Given the description of an element on the screen output the (x, y) to click on. 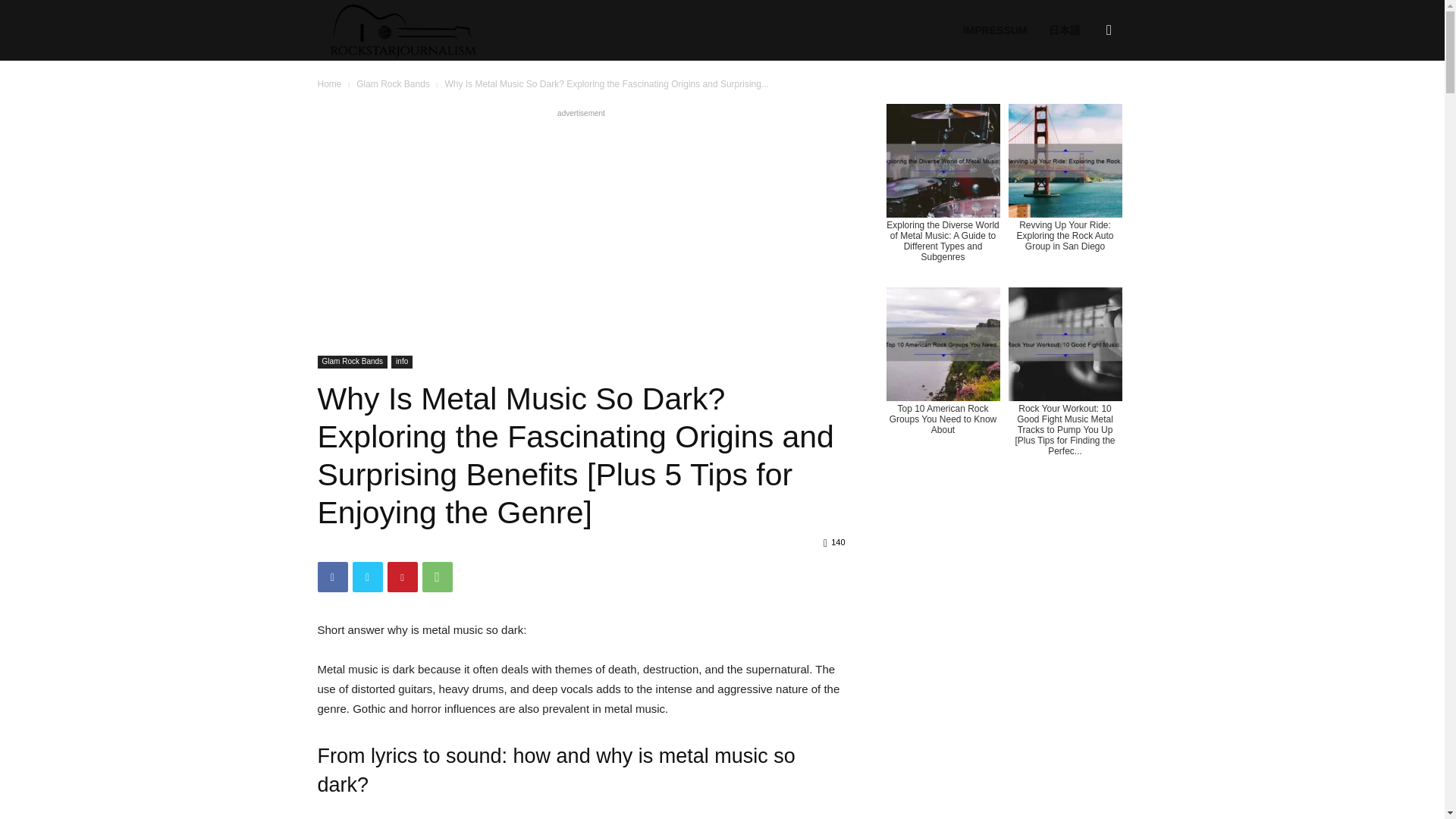
info (401, 361)
Glam Rock Bands (352, 361)
Facebook (332, 576)
Search (1085, 102)
WhatsApp (436, 576)
Pinterest (401, 576)
Twitter (366, 576)
Rock Star Journalism (401, 30)
IMPRESSUM (995, 30)
View all posts in Glam Rock Bands (392, 83)
Advertisement (580, 243)
Glam Rock Bands (392, 83)
Home (328, 83)
